Given the description of an element on the screen output the (x, y) to click on. 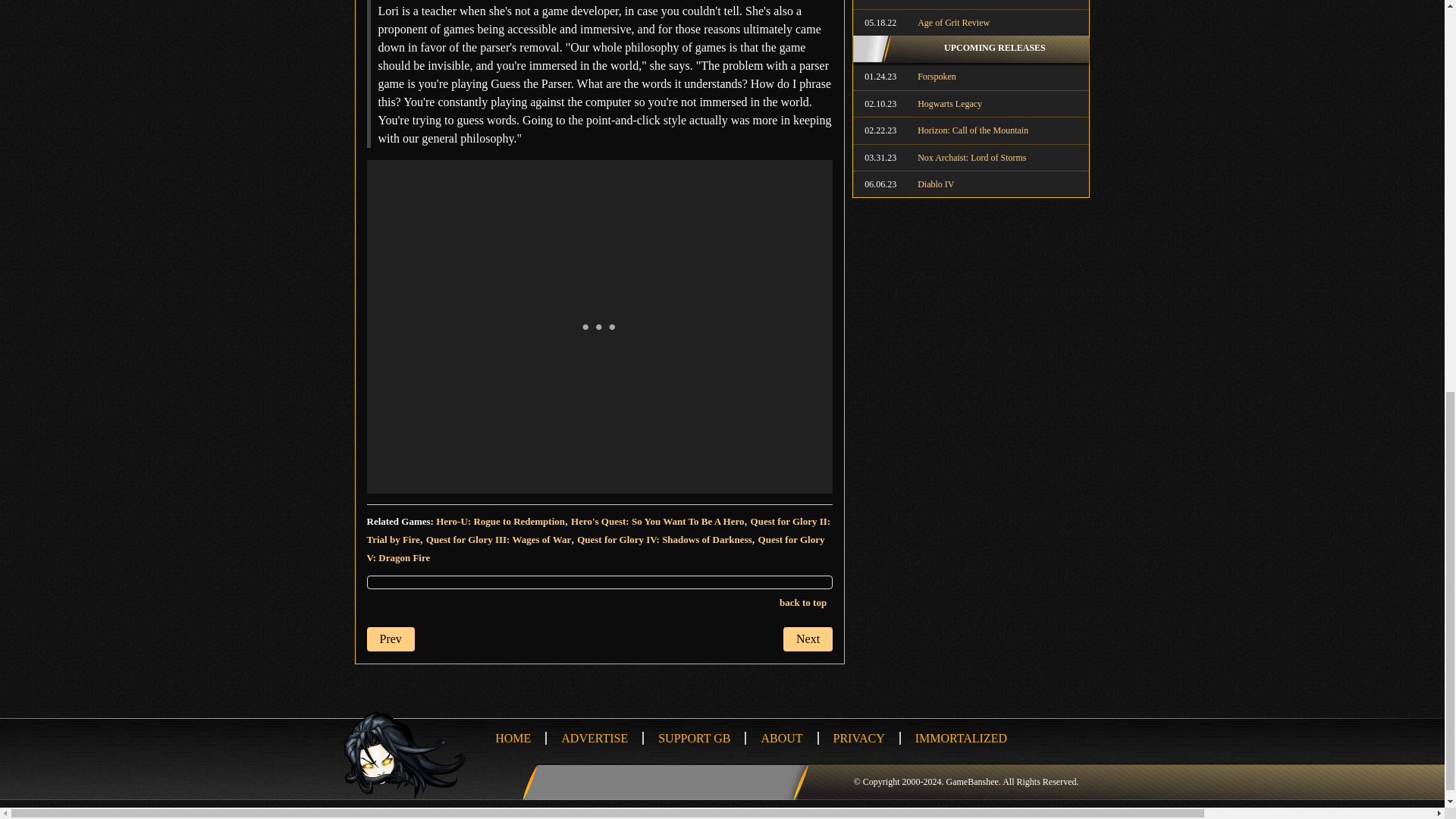
Forspoken (970, 76)
Diablo IV (970, 183)
Nox Archaist: Lord of Storms (970, 157)
Age of Grit Review (970, 22)
Hogwarts Legacy (970, 103)
Horizon: Call of the Mountain (970, 130)
Weird West Review (970, 1)
